Given the description of an element on the screen output the (x, y) to click on. 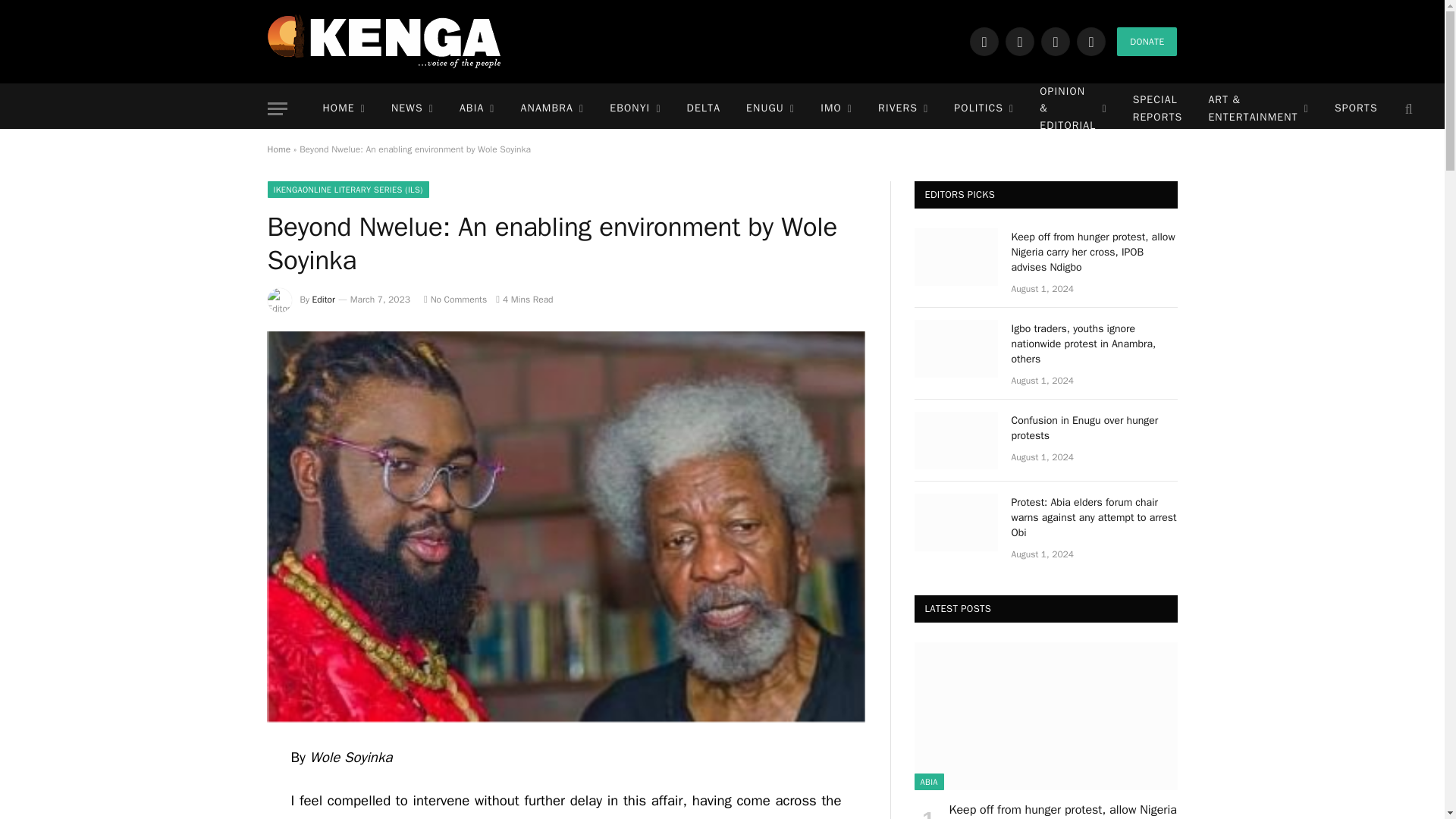
Facebook (983, 41)
Ikenga Online (383, 41)
HOME (342, 108)
DONATE (1146, 41)
YouTube (1091, 41)
Instagram (1055, 41)
Twitter (1019, 41)
NEWS (412, 108)
